Given the description of an element on the screen output the (x, y) to click on. 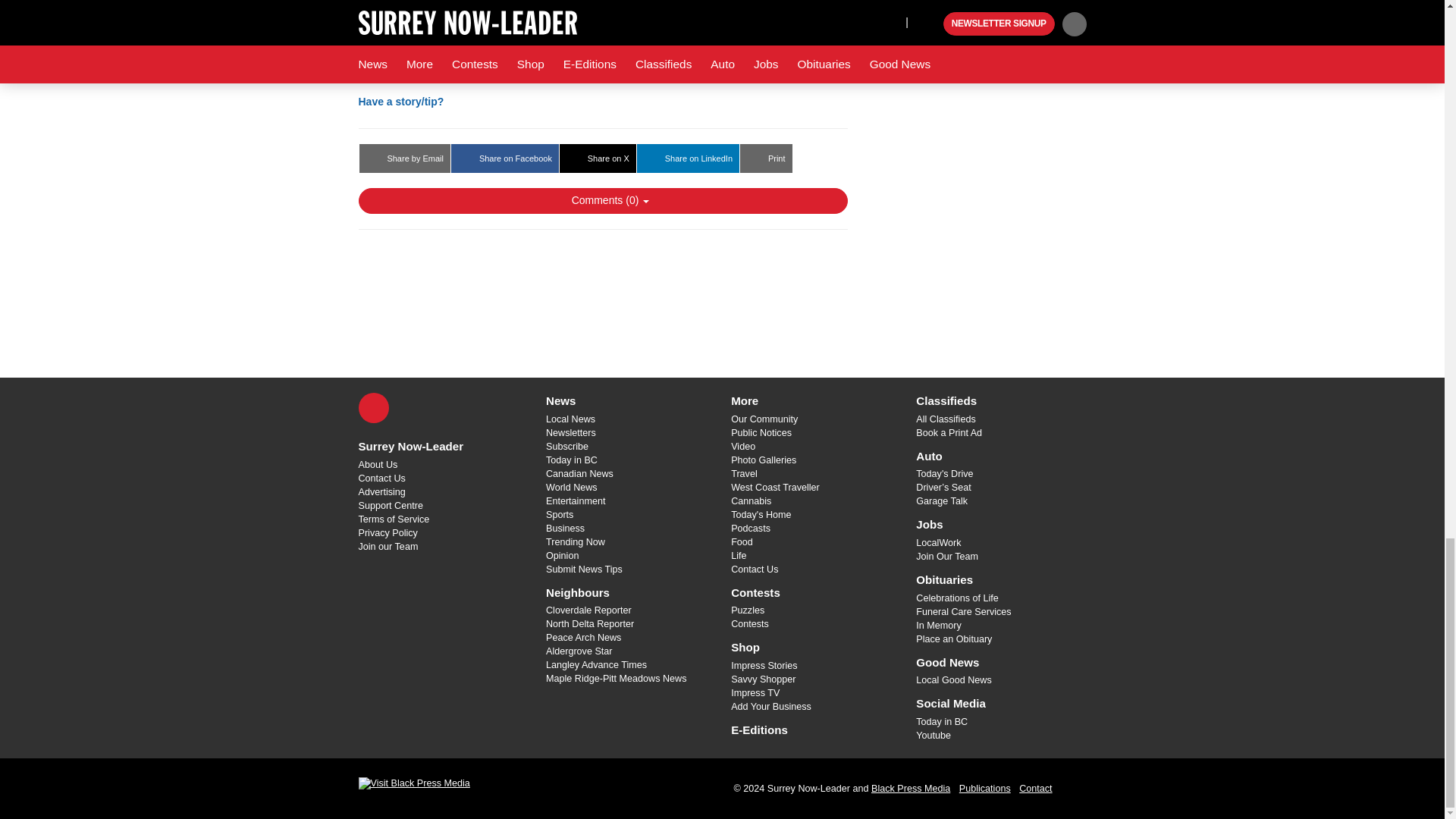
X (373, 408)
related story (588, 38)
Show Comments (602, 200)
